Given the description of an element on the screen output the (x, y) to click on. 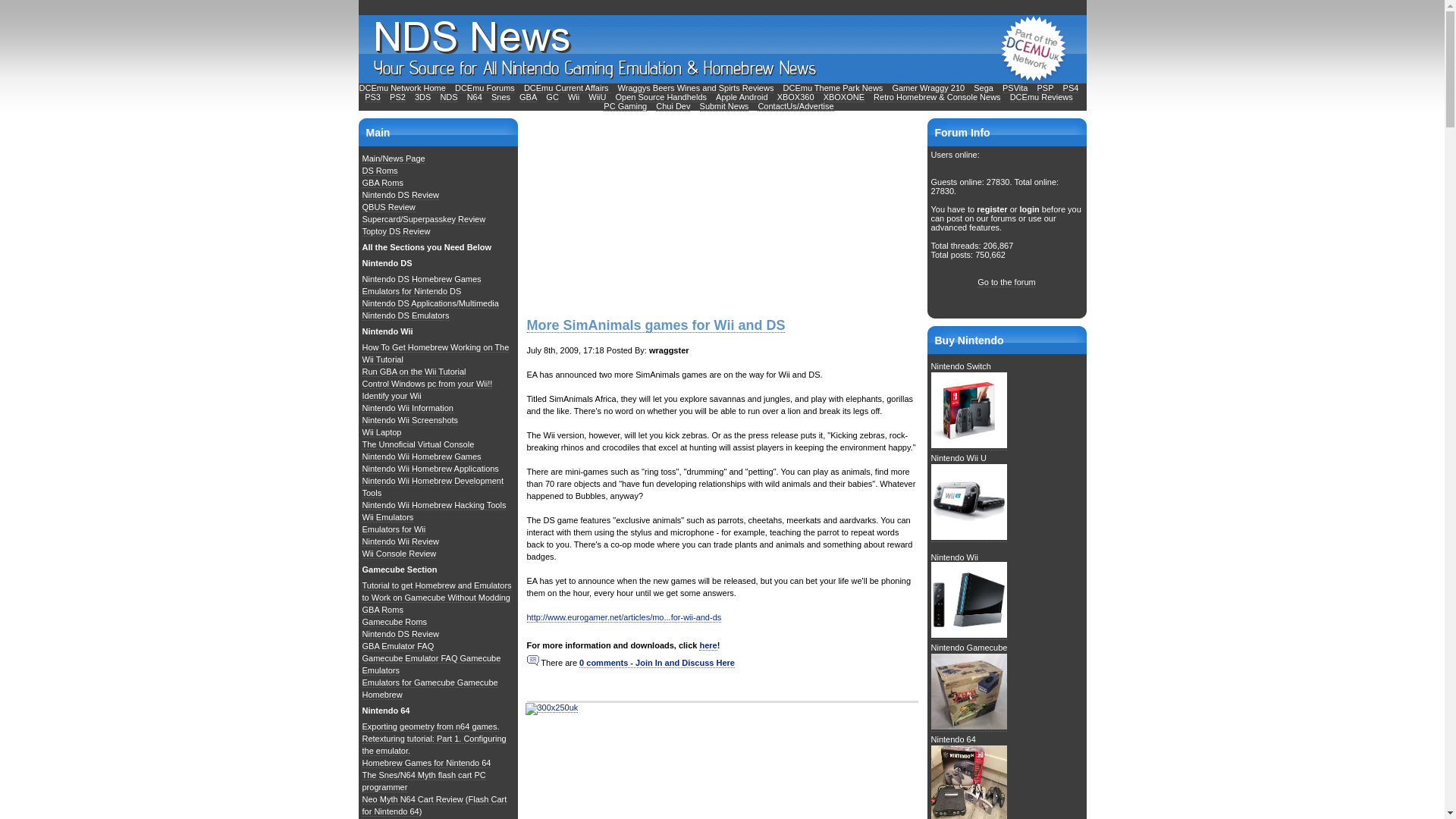
Toptoy DS Review (396, 231)
PC Gaming (625, 106)
Nintendo DS Review (400, 194)
Gamer Wraggy 210 (927, 88)
GBA (528, 97)
PS2 (398, 97)
Open Source Handhelds (660, 97)
PS3 (372, 97)
Chui Dev (673, 106)
Emulators for Nintendo DS (411, 291)
Submit News (724, 106)
PS4 (1070, 88)
DCEmu Forums (484, 88)
DCEmu Theme Park News (832, 88)
DCEmu Network Home (402, 88)
